Given the description of an element on the screen output the (x, y) to click on. 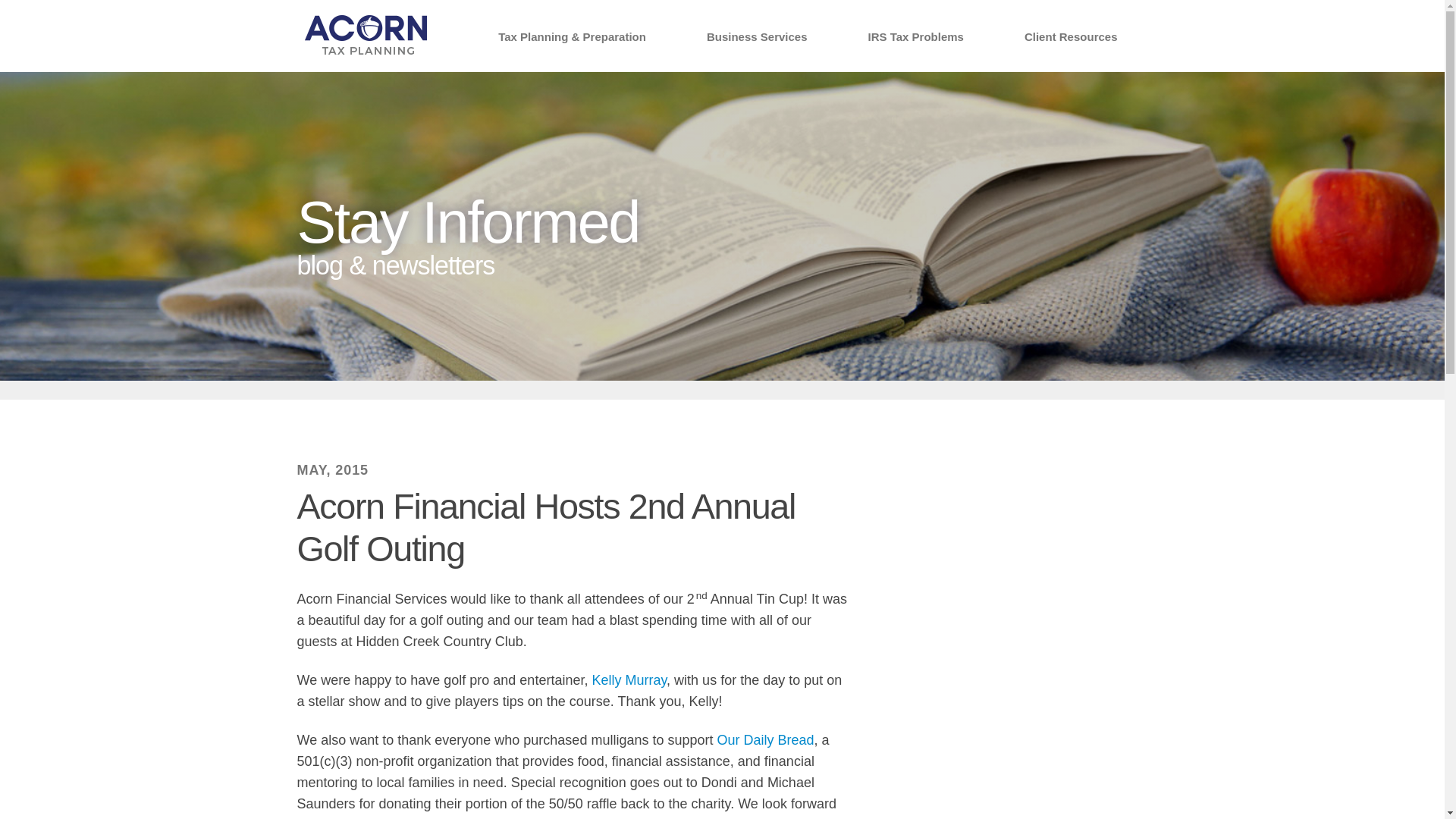
Kelly Murray (628, 679)
Business Services (757, 37)
Client Resources (1071, 37)
IRS Tax Problems (915, 37)
Tax planning services in Reston, VA (365, 36)
Our Daily Bread (764, 739)
